Given the description of an element on the screen output the (x, y) to click on. 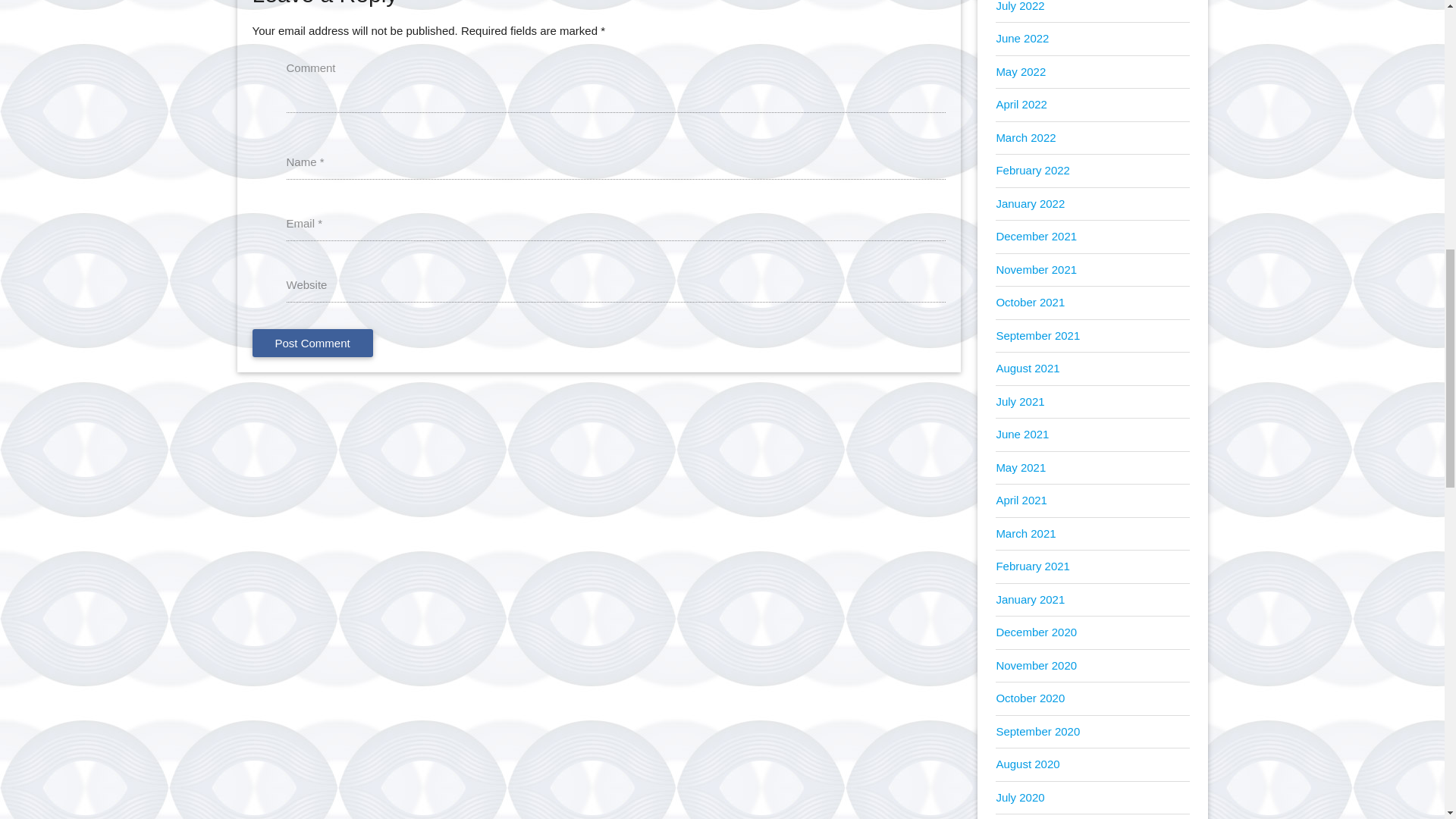
October 2020 (1029, 697)
Post Comment (311, 343)
January 2022 (1029, 203)
March 2021 (1025, 533)
January 2021 (1029, 599)
October 2021 (1029, 301)
April 2022 (1020, 103)
June 2021 (1021, 433)
November 2021 (1036, 269)
Post Comment (311, 343)
March 2022 (1025, 137)
June 2022 (1021, 38)
April 2021 (1020, 499)
September 2021 (1037, 335)
December 2020 (1036, 631)
